Given the description of an element on the screen output the (x, y) to click on. 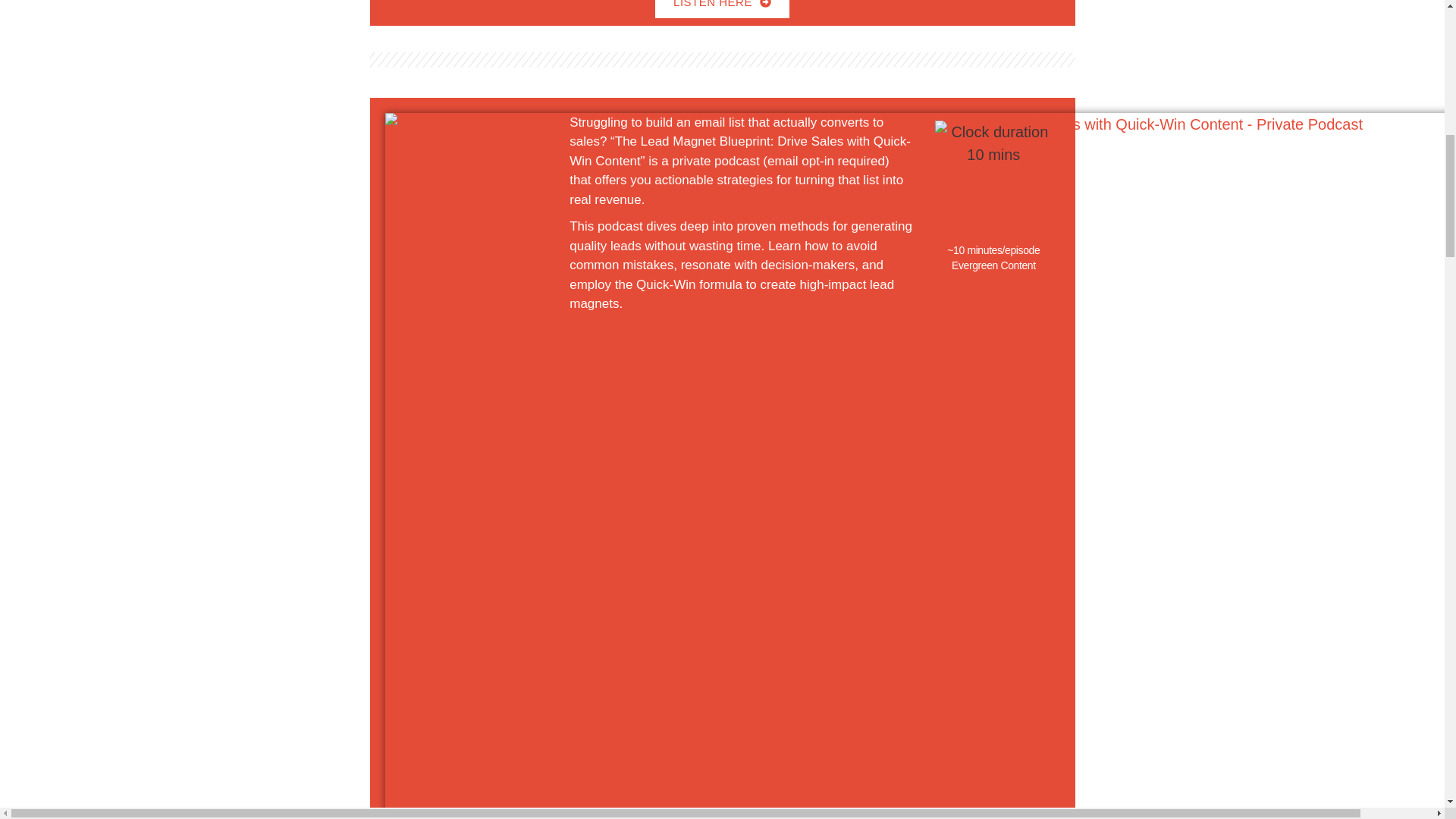
LISTEN HERE (722, 9)
